Given the description of an element on the screen output the (x, y) to click on. 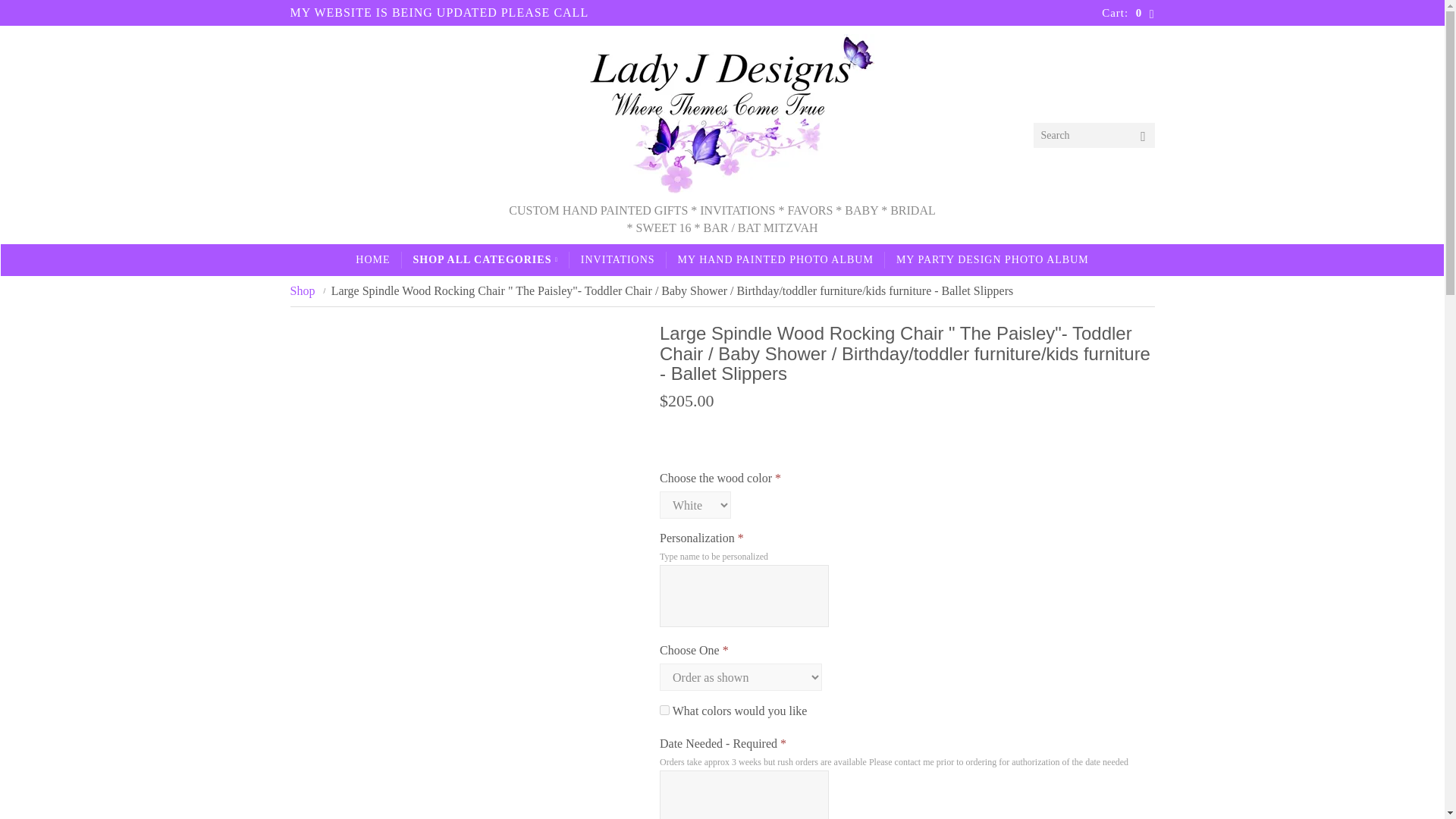
INVITATIONS (617, 260)
HOME (372, 260)
Cart:  0   (1128, 12)
MY HAND PAINTED PHOTO ALBUM (775, 260)
on (664, 709)
MY WEBSITE IS BEING UPDATED PLEASE CALL (438, 13)
Shop (301, 290)
MY PARTY DESIGN PHOTO ALBUM (992, 260)
SHOP ALL CATEGORIES (485, 260)
